Given the description of an element on the screen output the (x, y) to click on. 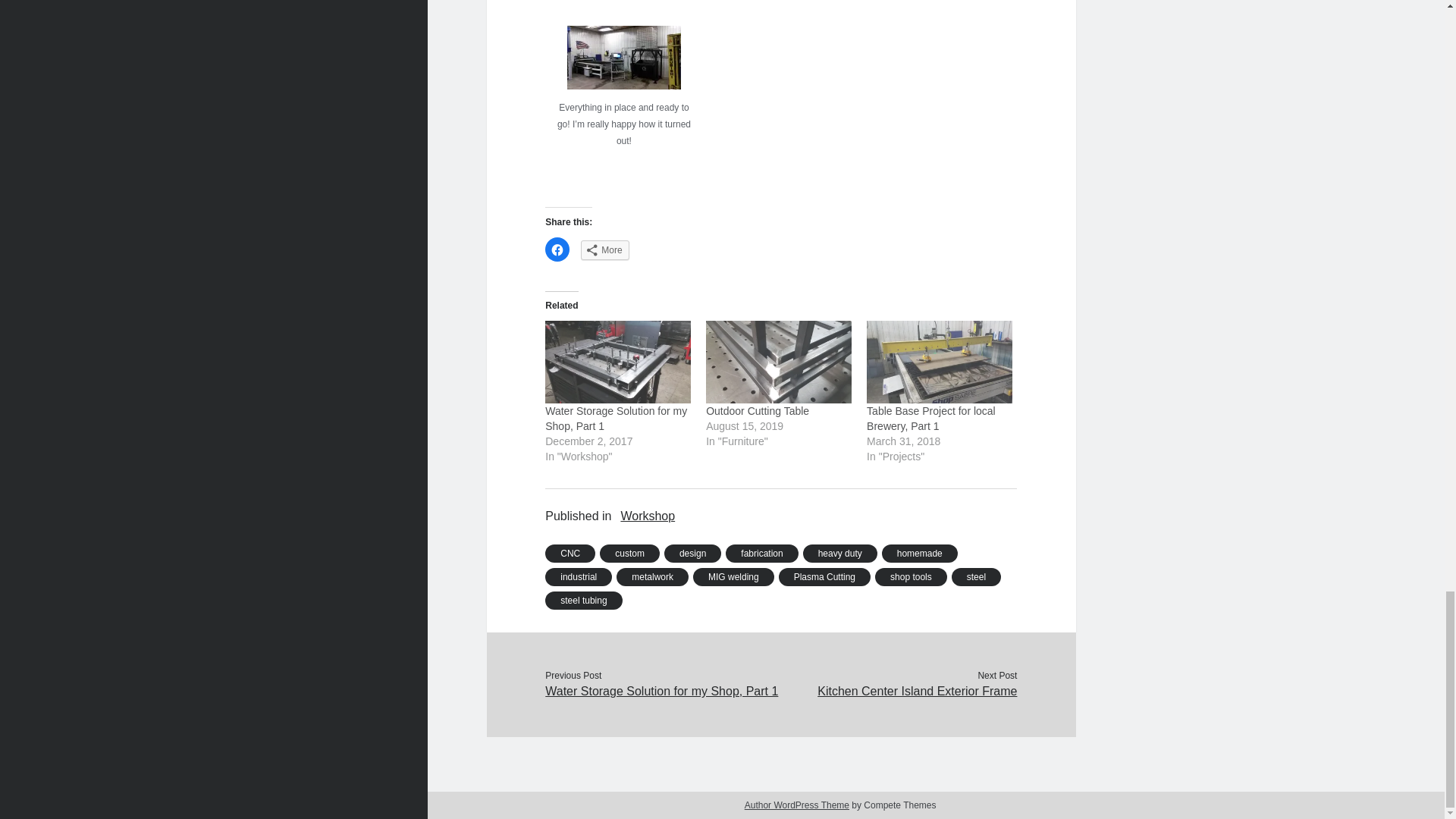
Table Base Project for local Brewery, Part 1 (938, 361)
Water Storage Solution for my Shop, Part 1 (615, 418)
Outdoor Cutting Table (757, 410)
Water Storage Solution for my Shop, Part 1 (617, 361)
View all posts in Workshop (647, 515)
Outdoor Cutting Table (778, 361)
View all posts tagged CNC (569, 553)
Click to share on Facebook (556, 249)
View all posts tagged design (691, 553)
View all posts tagged custom (629, 553)
